Given the description of an element on the screen output the (x, y) to click on. 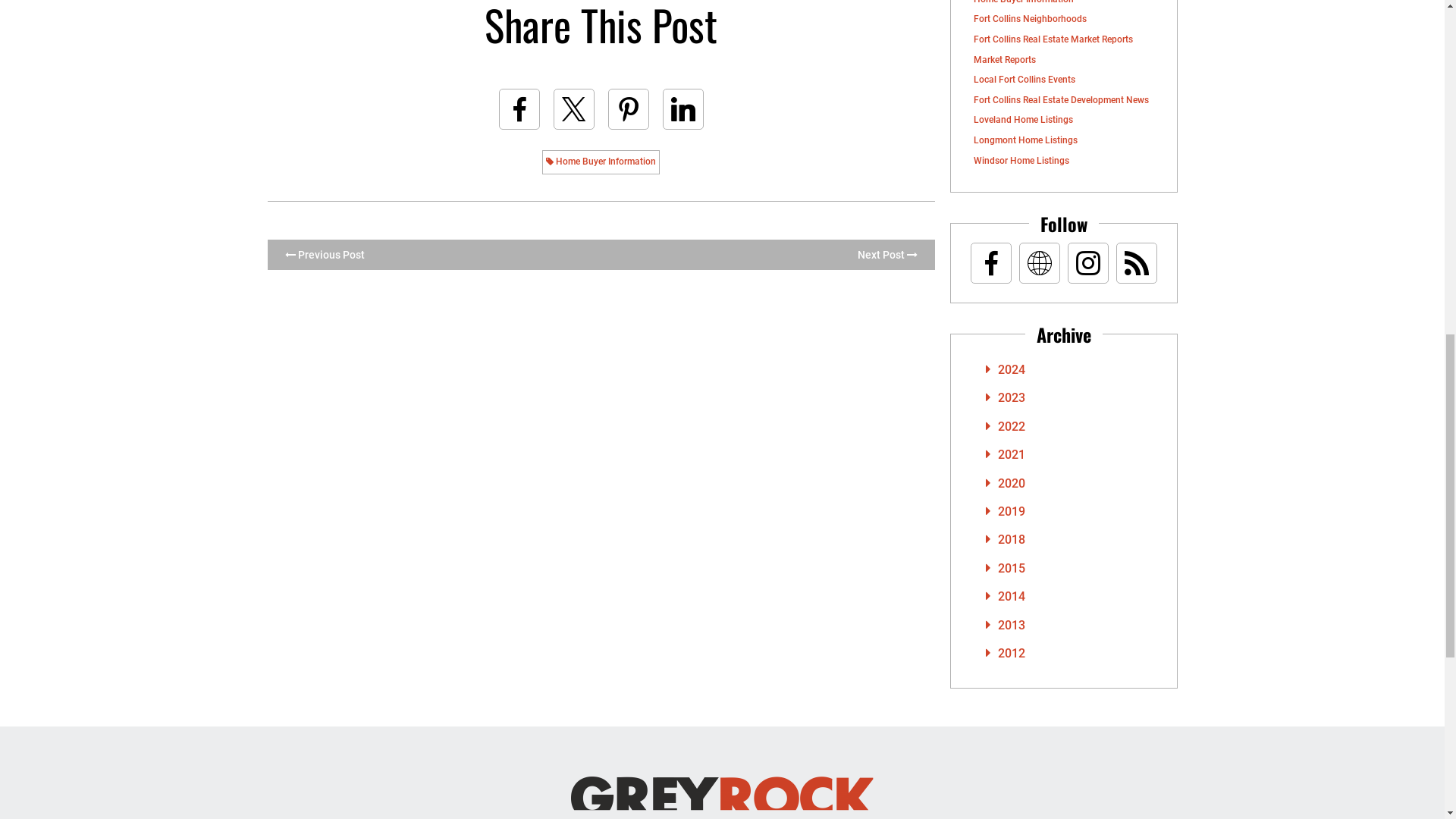
Home Buyer Information (600, 161)
Home Buyer Information (1024, 2)
Share on Pinterest (628, 108)
Visit me on Blog (1136, 262)
Share on Facebook (519, 108)
Market Reports (1004, 59)
Previous Post (324, 254)
Visit me on Instagram (1087, 262)
Fort Collins Real Estate Market Reports (1053, 39)
Share on X (573, 108)
